Given the description of an element on the screen output the (x, y) to click on. 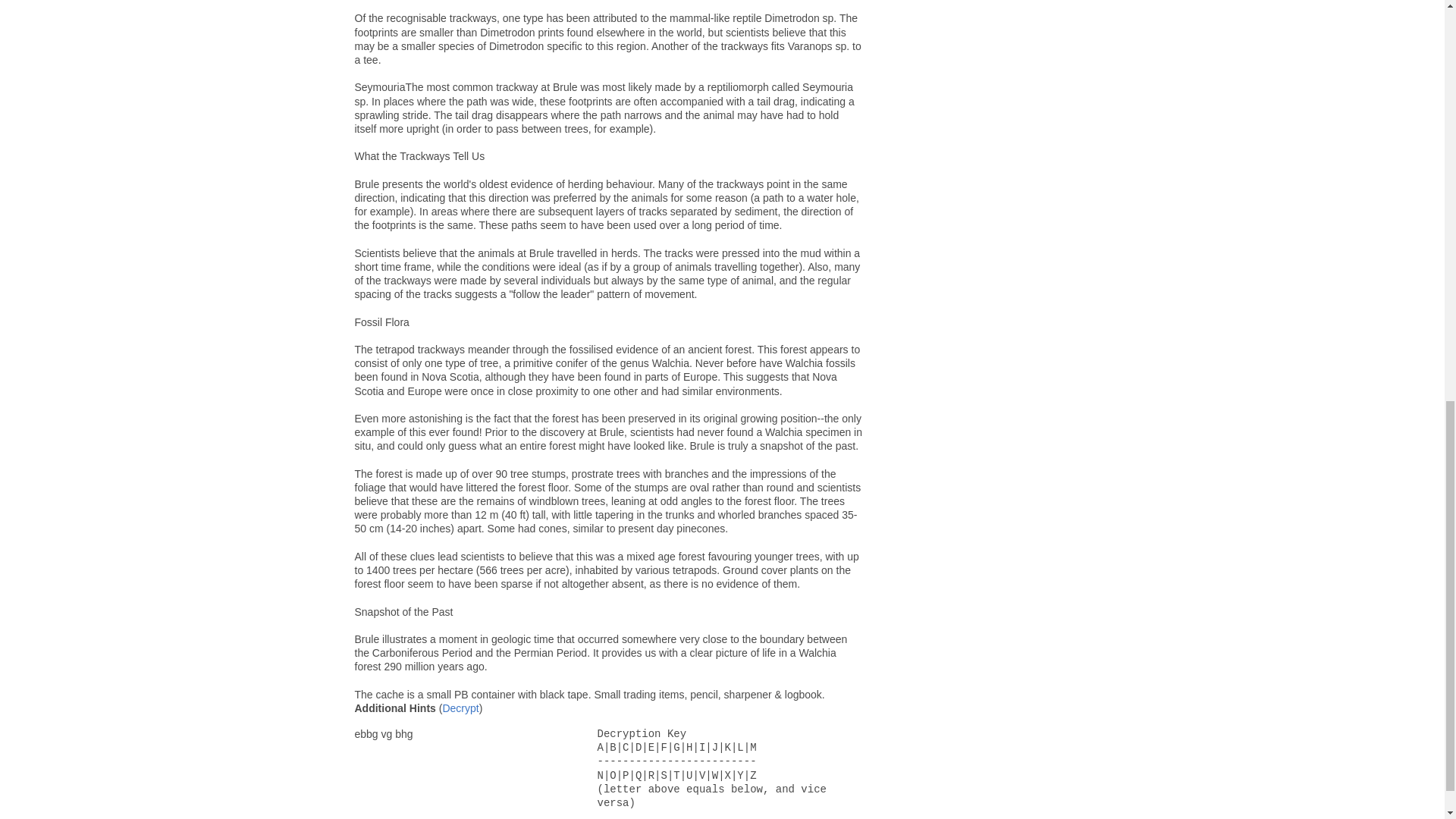
Decrypt (460, 707)
